Given the description of an element on the screen output the (x, y) to click on. 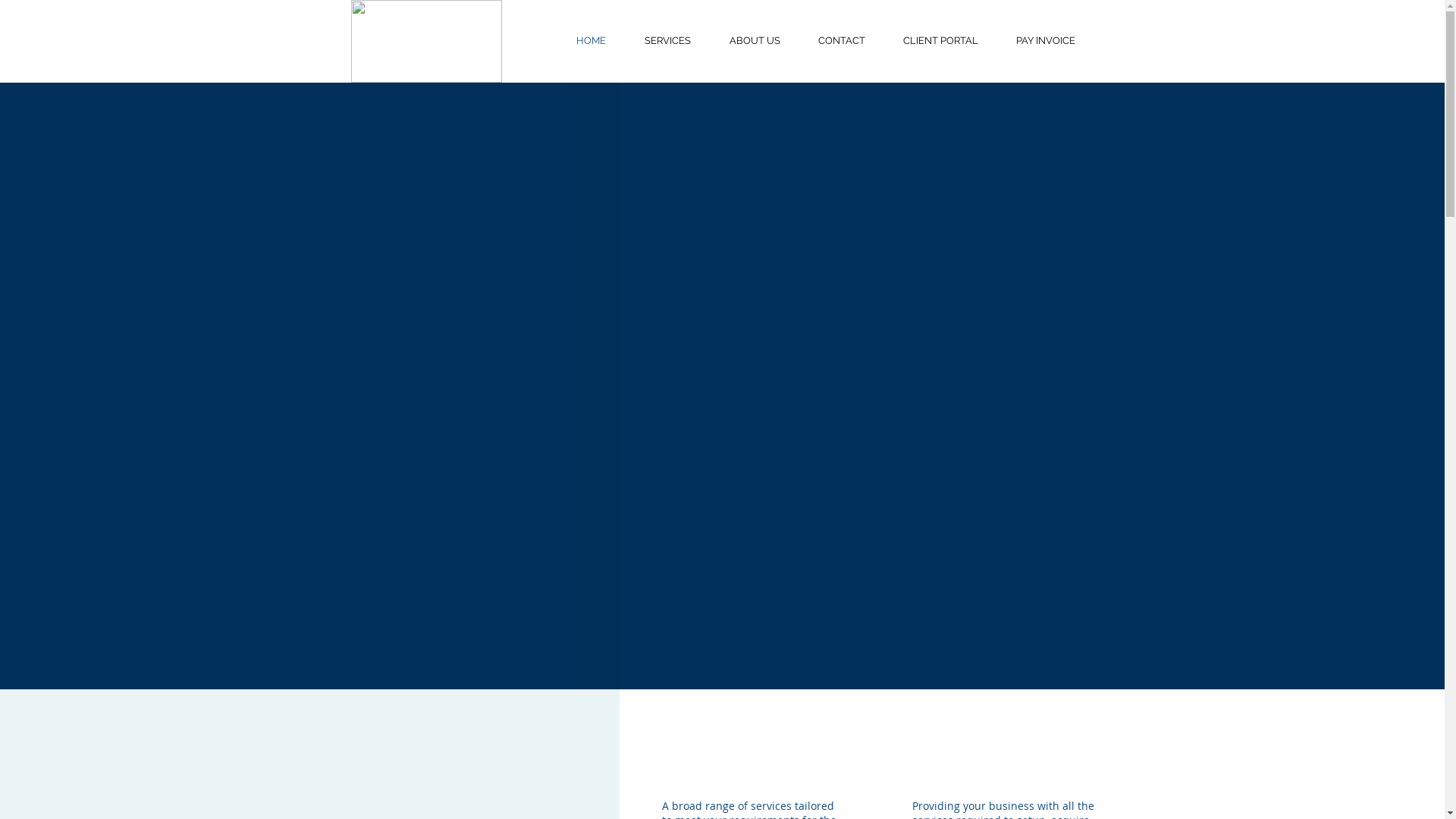
SERVICES Element type: text (666, 40)
PAY INVOICE Element type: text (1044, 40)
ABOUT US Element type: text (753, 40)
CONTACT Element type: text (841, 40)
HOME Element type: text (590, 40)
CLIENT PORTAL Element type: text (940, 40)
